Given the description of an element on the screen output the (x, y) to click on. 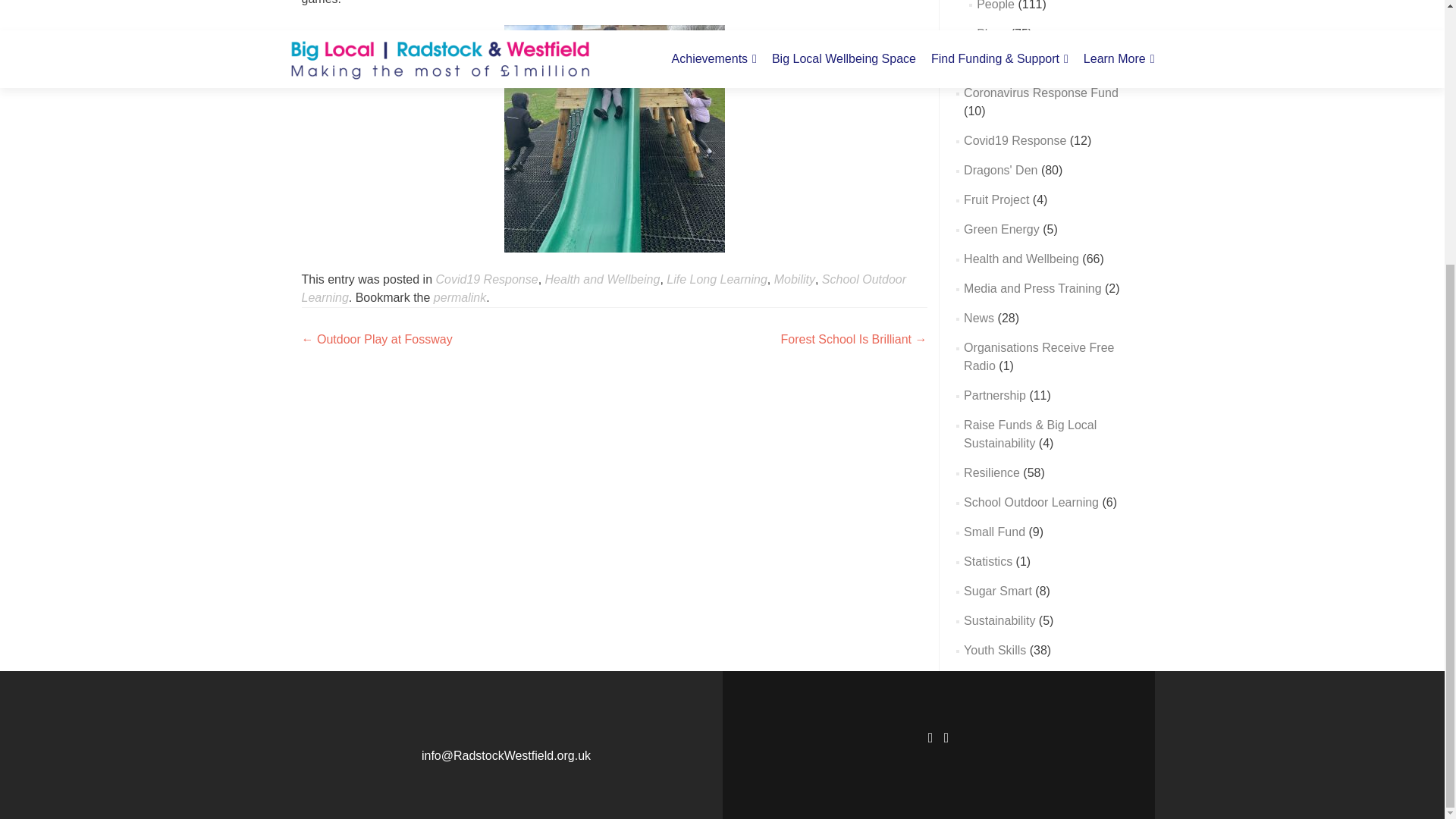
Health and Wellbeing (602, 278)
Covid19 Response (486, 278)
Life Long Learning (716, 278)
